Given the description of an element on the screen output the (x, y) to click on. 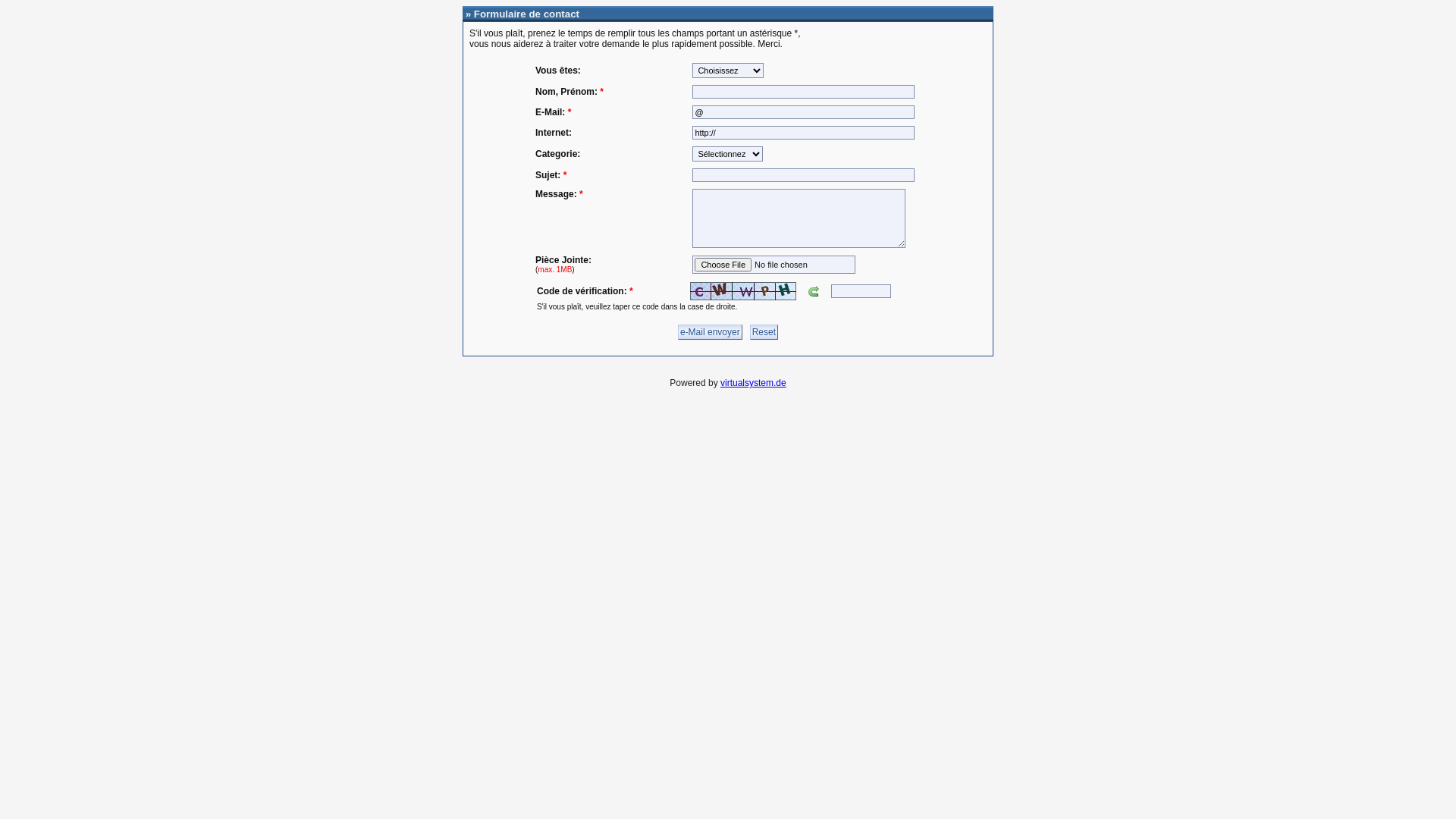
virtualsystem.de Element type: text (753, 382)
e-Mail envoyer Element type: text (709, 331)
